Given the description of an element on the screen output the (x, y) to click on. 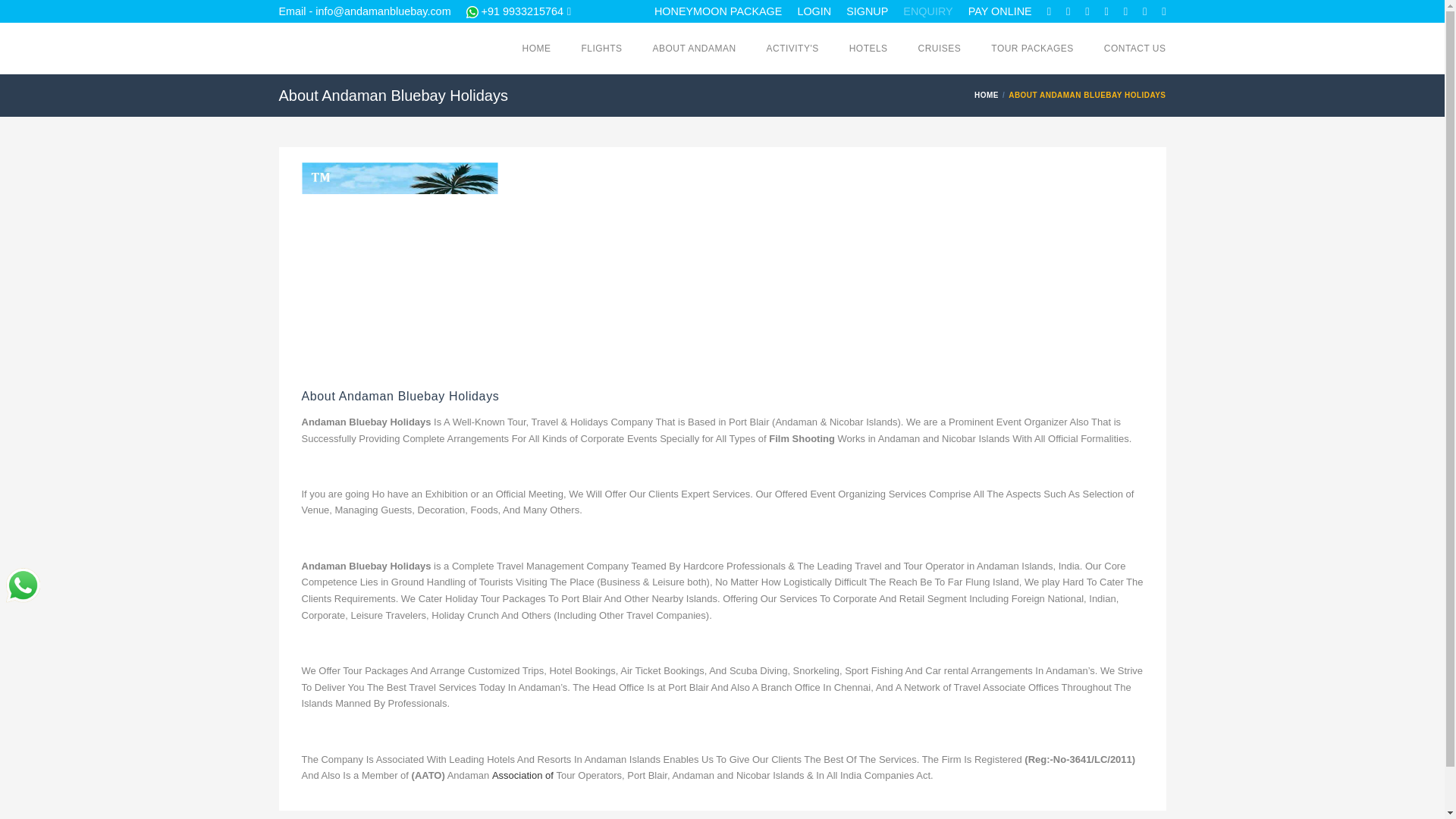
LOGIN (813, 11)
ABOUT ANDAMAN (694, 48)
HONEYMOON PACKAGE (717, 11)
ACTIVITY'S (792, 48)
ENQUIRY (927, 11)
SIGNUP (866, 11)
Andaman Bluebay Holidays (392, 48)
PAY ONLINE (1000, 11)
